Given the description of an element on the screen output the (x, y) to click on. 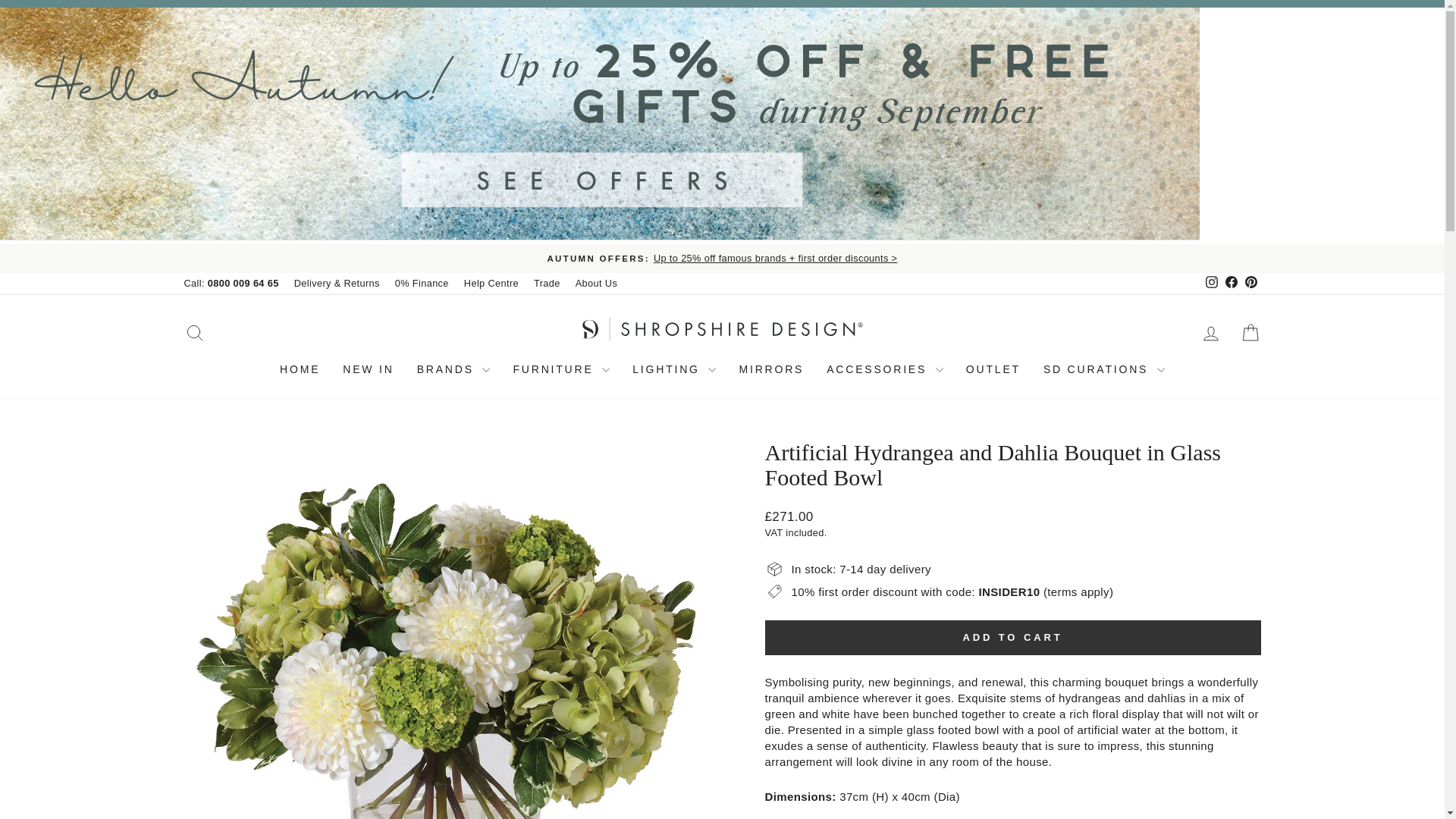
instagram (1211, 282)
ICON-SEARCH (194, 332)
Shropshire Design on Instagram (1211, 283)
Shropshire Design on Pinterest (1250, 283)
Shropshire Design on Facebook (1230, 283)
ACCOUNT (1210, 332)
